Given the description of an element on the screen output the (x, y) to click on. 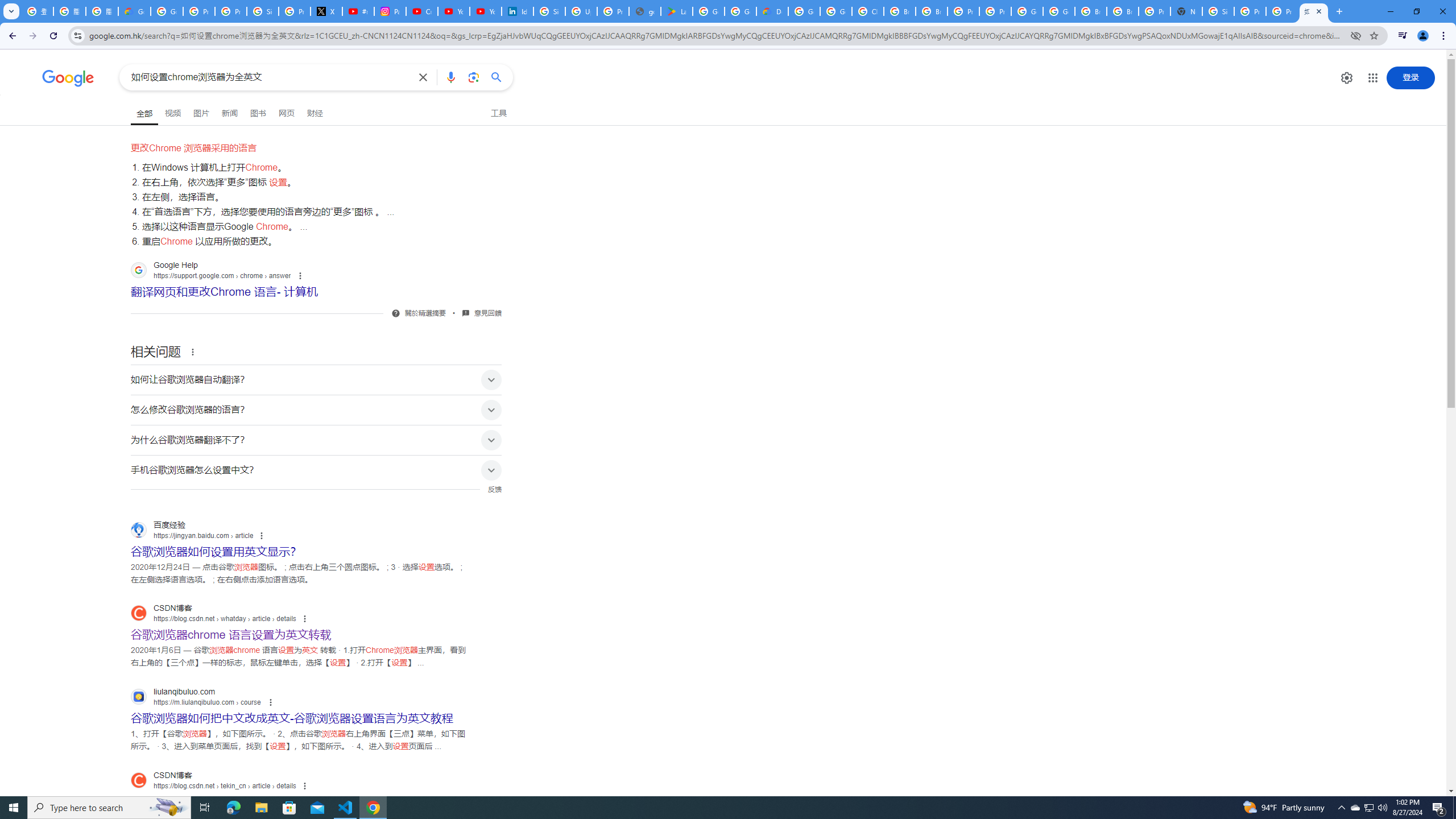
Google Cloud Platform (1027, 11)
YouTube Culture & Trends - YouTube Top 10, 2021 (485, 11)
